Given the description of an element on the screen output the (x, y) to click on. 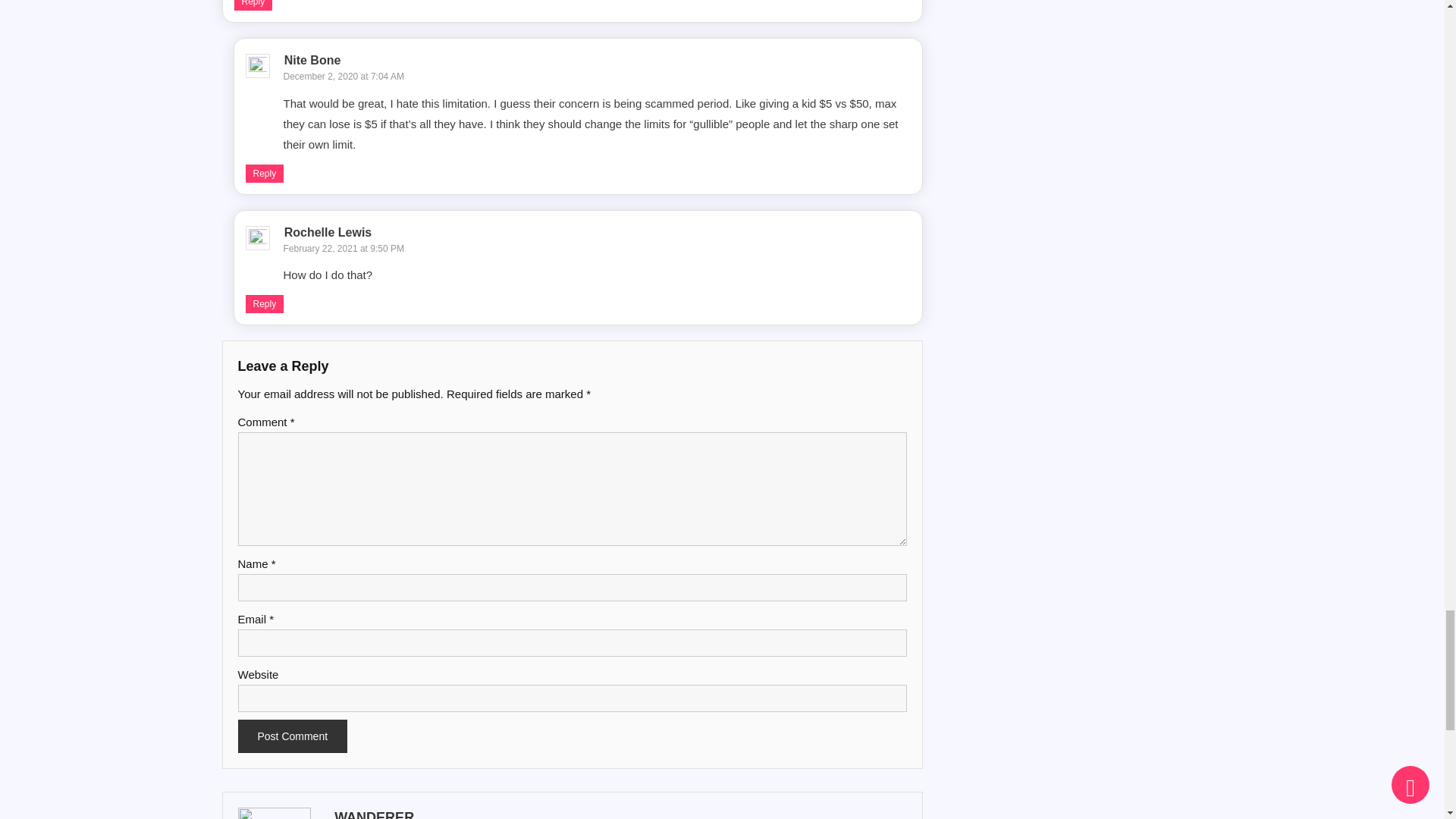
Reply (252, 5)
Posts by Wanderer (618, 813)
December 2, 2020 at 7:04 AM (343, 76)
Post Comment (292, 735)
